Given the description of an element on the screen output the (x, y) to click on. 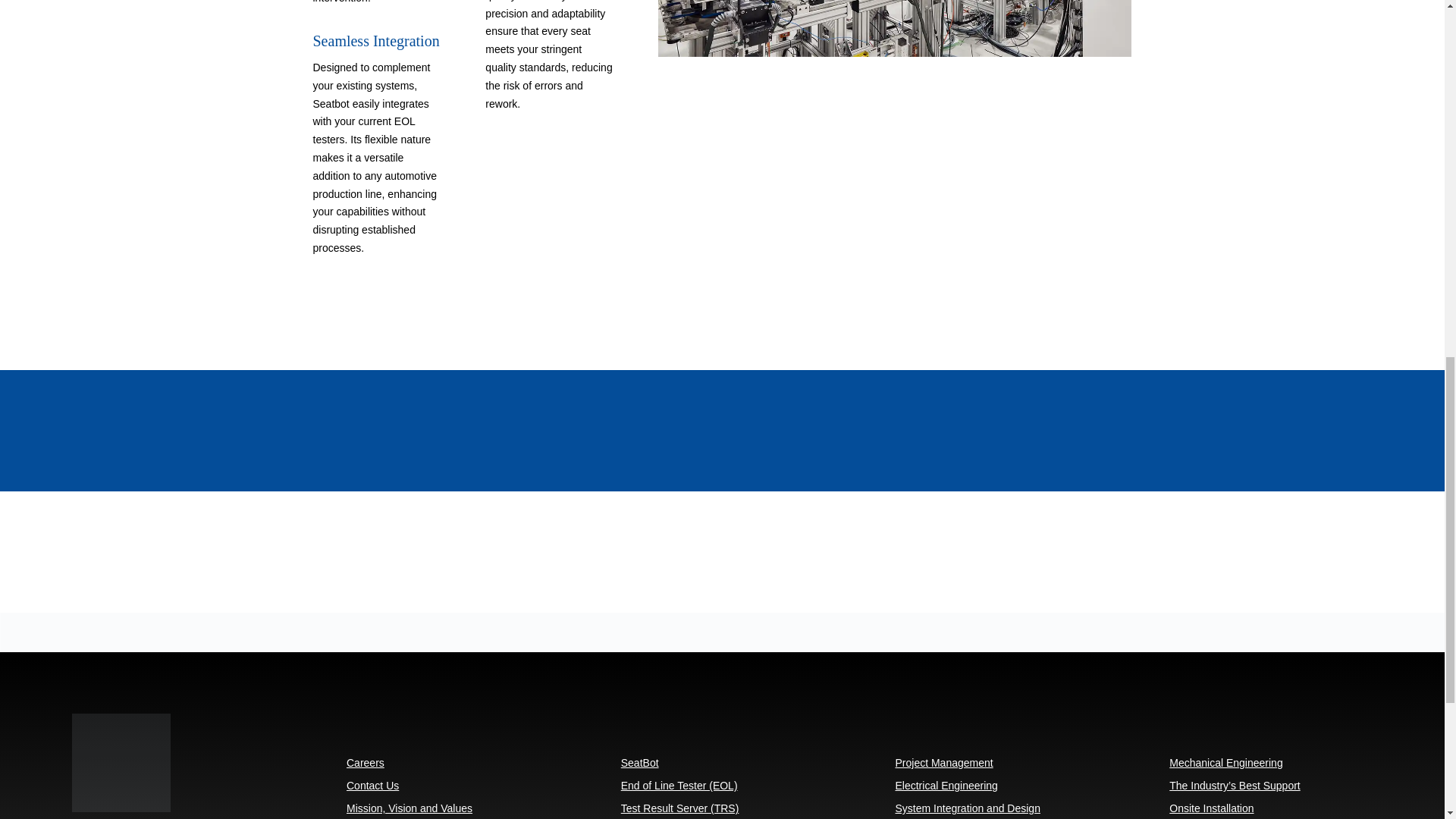
Careers (365, 765)
SeatBot (640, 765)
Project Management (943, 765)
Onsite Installation (1211, 811)
Contact Us (372, 788)
Mechanical Engineering (1225, 765)
System Integration and Design (967, 811)
Electrical Engineering (946, 788)
416 Automation Parent Logo - White (120, 762)
416 Automation Seatbot (894, 28)
